Given the description of an element on the screen output the (x, y) to click on. 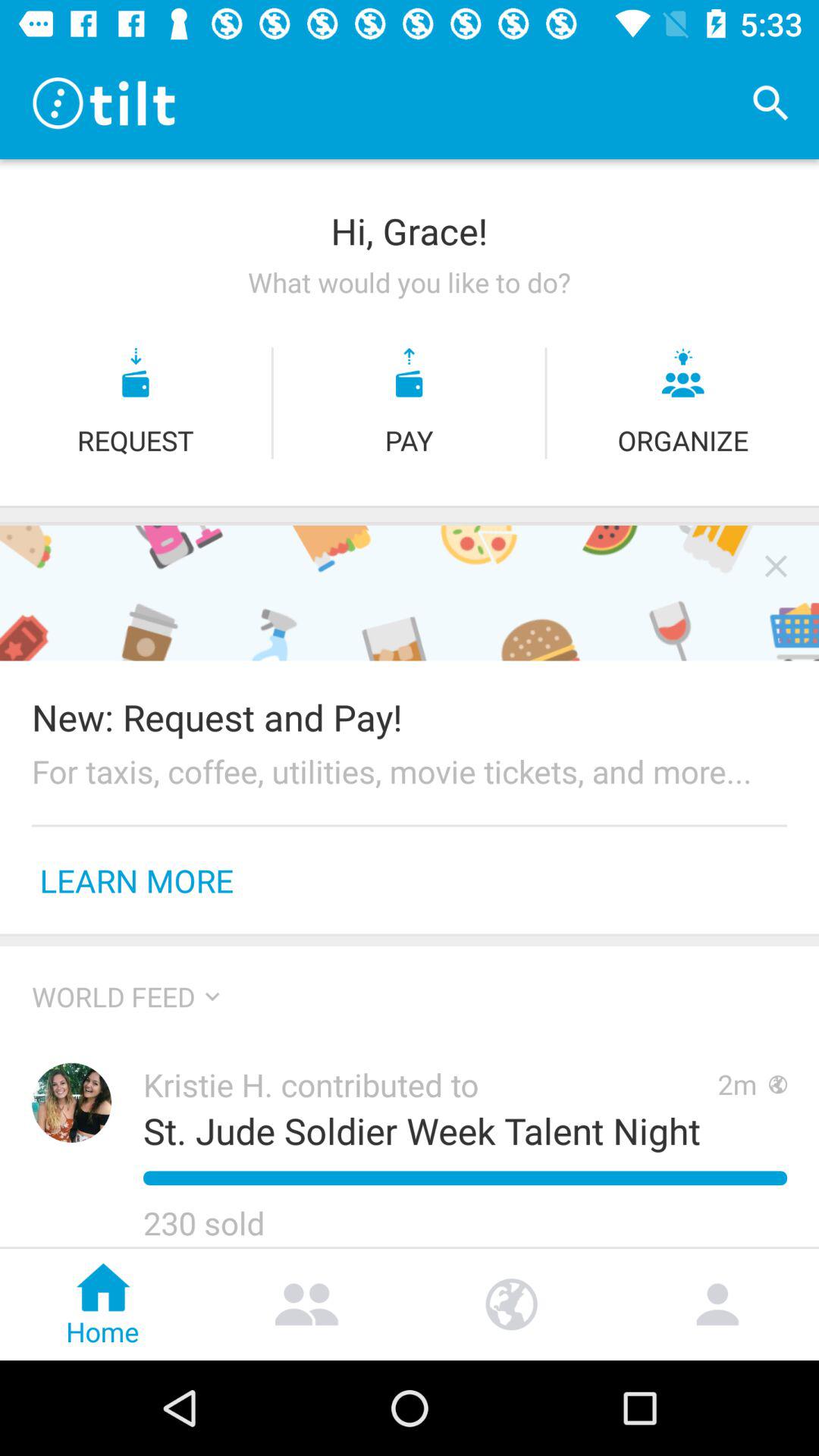
close option (776, 566)
